Given the description of an element on the screen output the (x, y) to click on. 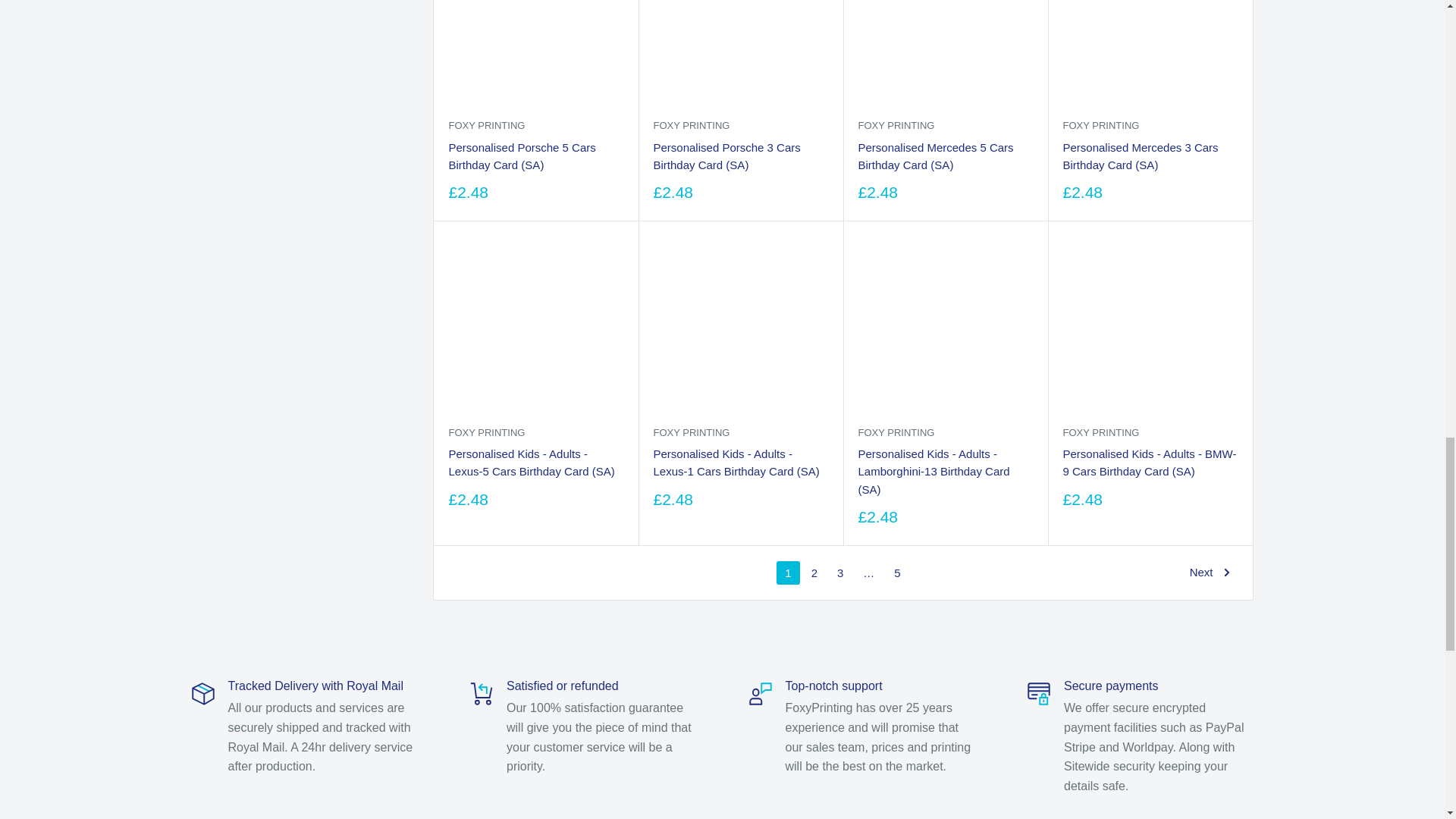
Navigate to page 3 (839, 572)
Next (1209, 572)
Navigate to page 5 (896, 572)
Navigate to page 2 (814, 572)
